Given the description of an element on the screen output the (x, y) to click on. 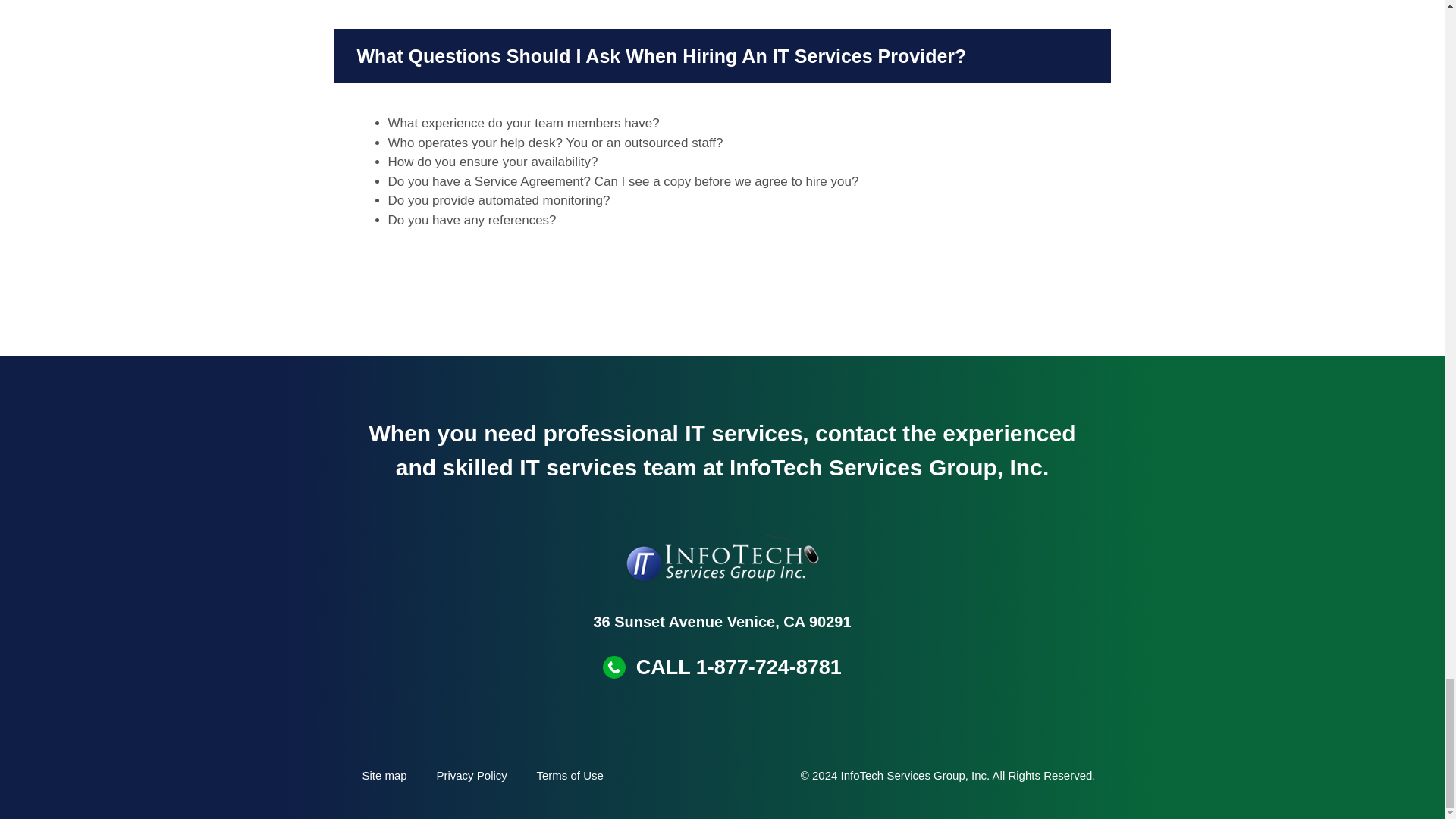
Terms of Use (569, 775)
CALL 1-877-724-8781 (738, 667)
36 Sunset Avenue Venice, CA 90291 (721, 621)
Privacy Policy (471, 775)
Site map (384, 775)
